Given the description of an element on the screen output the (x, y) to click on. 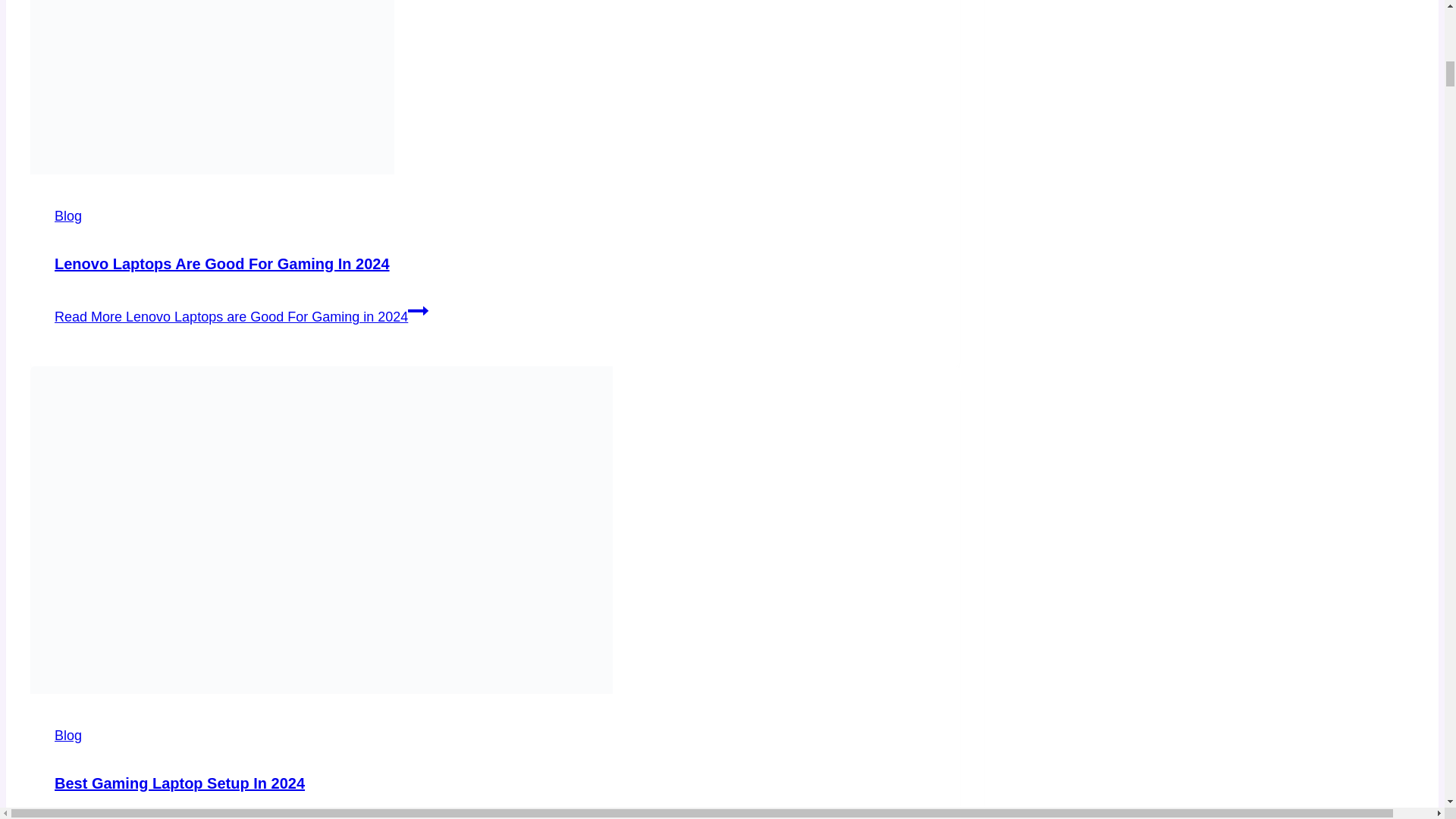
Blog (68, 215)
Blog (68, 735)
Read More Lenovo Laptops are Good For Gaming in 2024 (241, 316)
Lenovo Laptops Are Good For Gaming In 2024 (222, 263)
Best Gaming Laptop Setup In 2024 (179, 782)
